Given the description of an element on the screen output the (x, y) to click on. 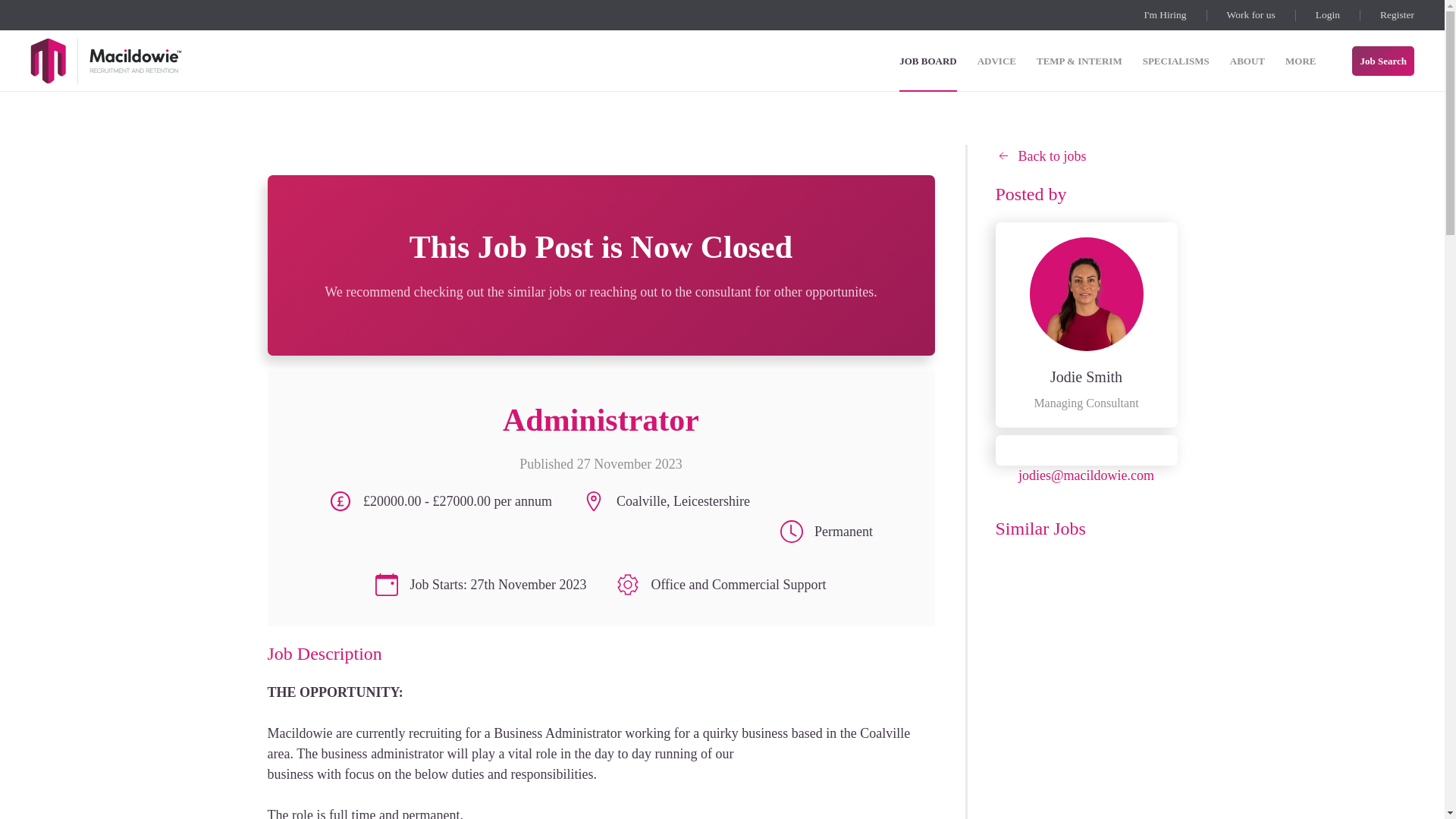
Login (1327, 14)
Work for us (1251, 14)
I'm Hiring (1165, 14)
JOB BOARD (927, 60)
Register (1396, 14)
